Given the description of an element on the screen output the (x, y) to click on. 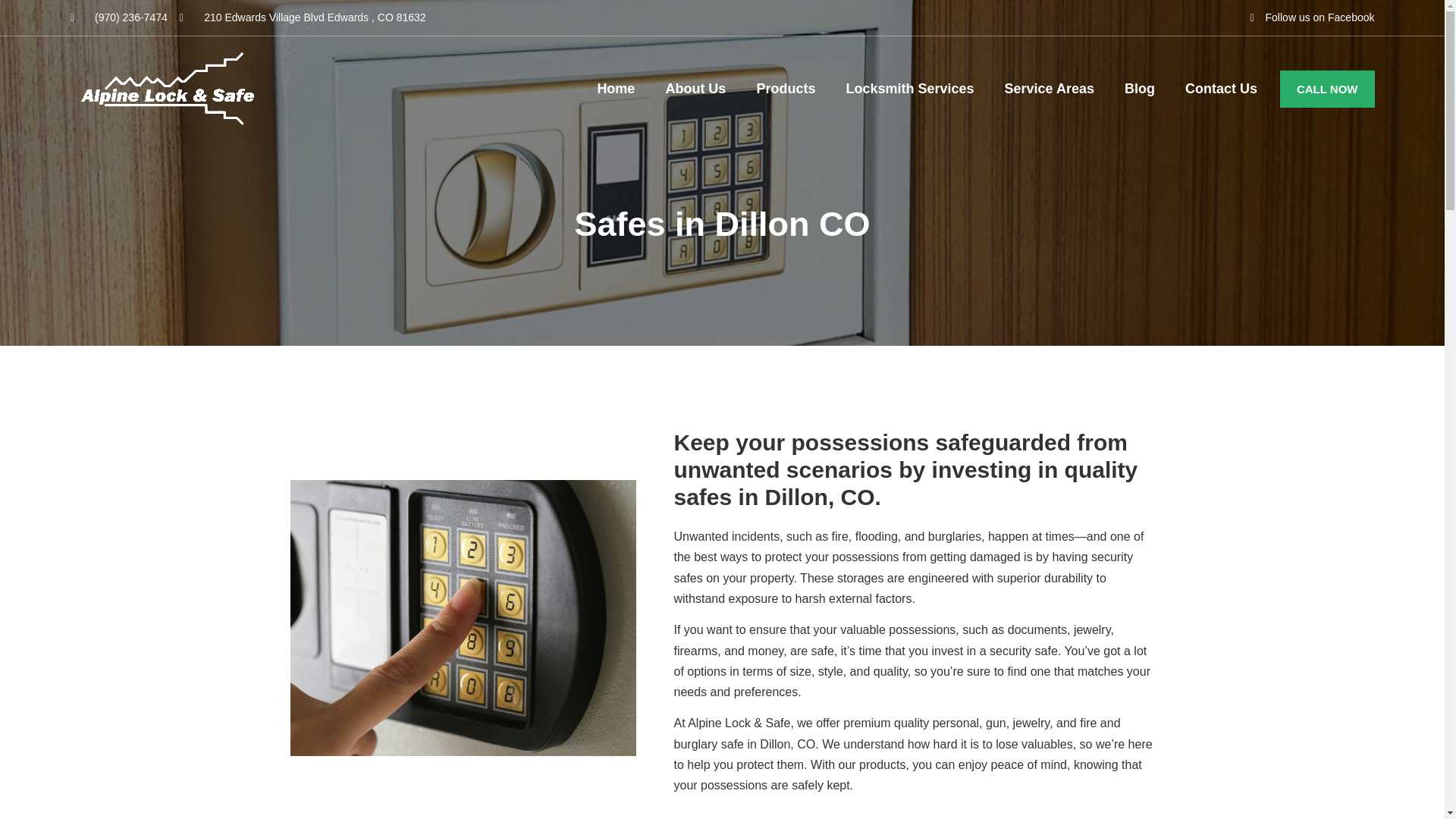
Follow us on Facebook (1307, 17)
210 Edwards Village Blvd Edwards , CO 81632 (302, 17)
About Us (695, 88)
Products (785, 88)
Service Areas (1048, 88)
Home (615, 88)
Locksmith Services (909, 88)
